Given the description of an element on the screen output the (x, y) to click on. 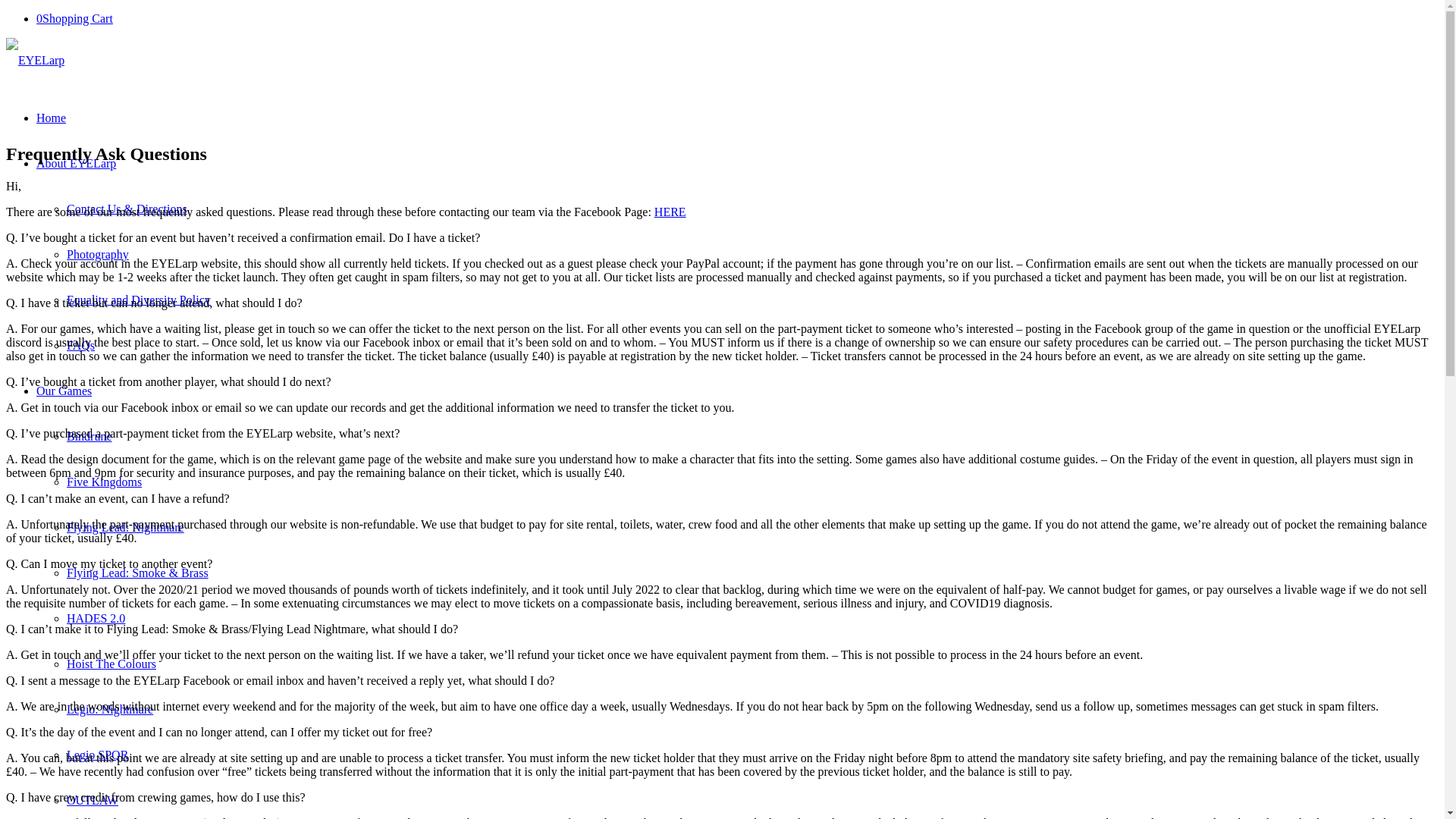
Legio: Nightmare (109, 708)
About EYELarp (76, 163)
Flying Lead: Nightmare (125, 526)
Five Kingdoms (103, 481)
Home (50, 117)
Equality and Diversity Policy (138, 299)
FAQs (80, 345)
0Shopping Cart (74, 18)
Photography (97, 254)
Our Games (63, 390)
Hoist The Colours (110, 663)
OUTLAW (91, 799)
Bindrune (89, 436)
HERE (669, 211)
Legio SPQR (97, 754)
